Given the description of an element on the screen output the (x, y) to click on. 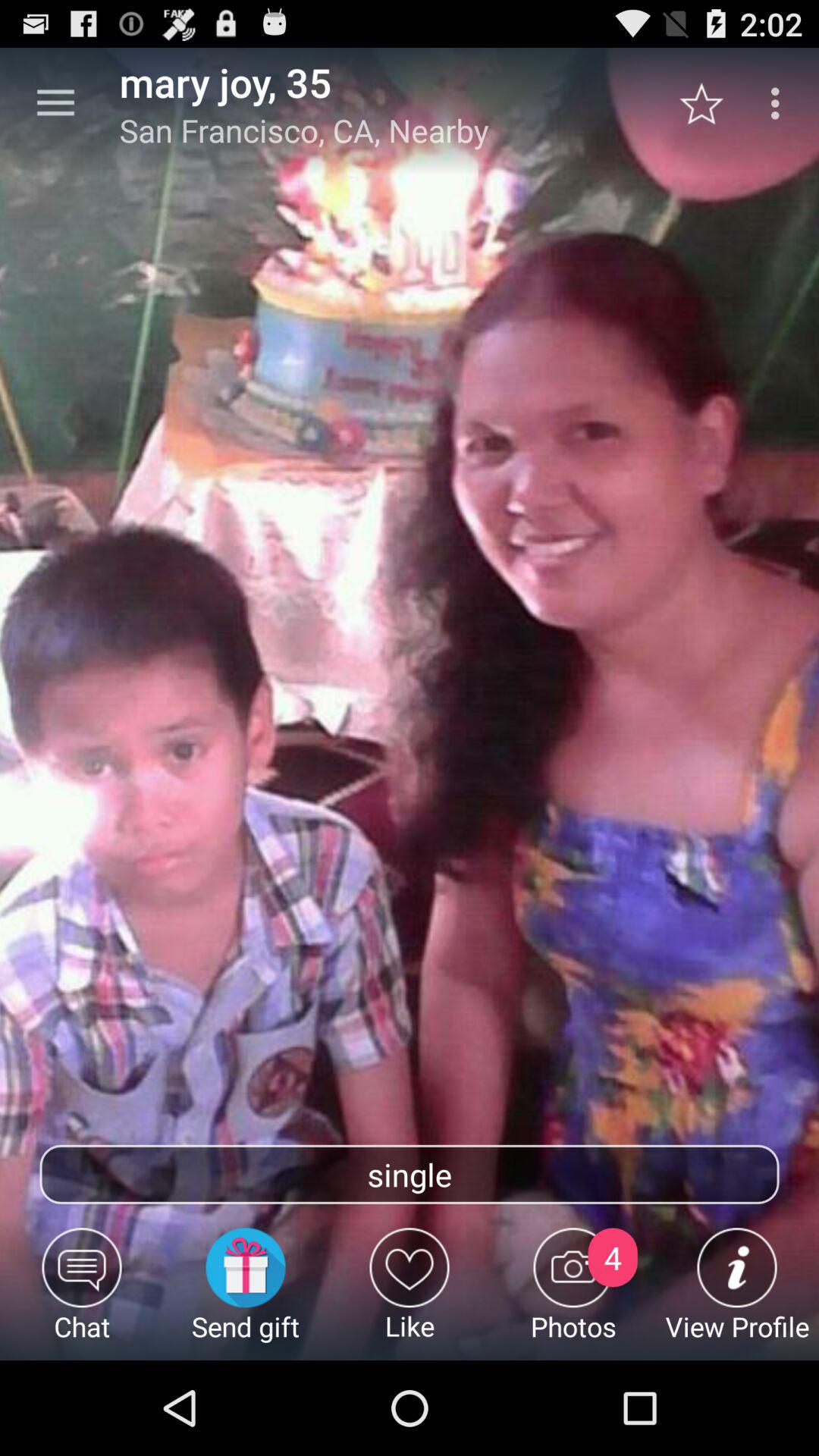
turn on icon next to the like icon (573, 1293)
